Given the description of an element on the screen output the (x, y) to click on. 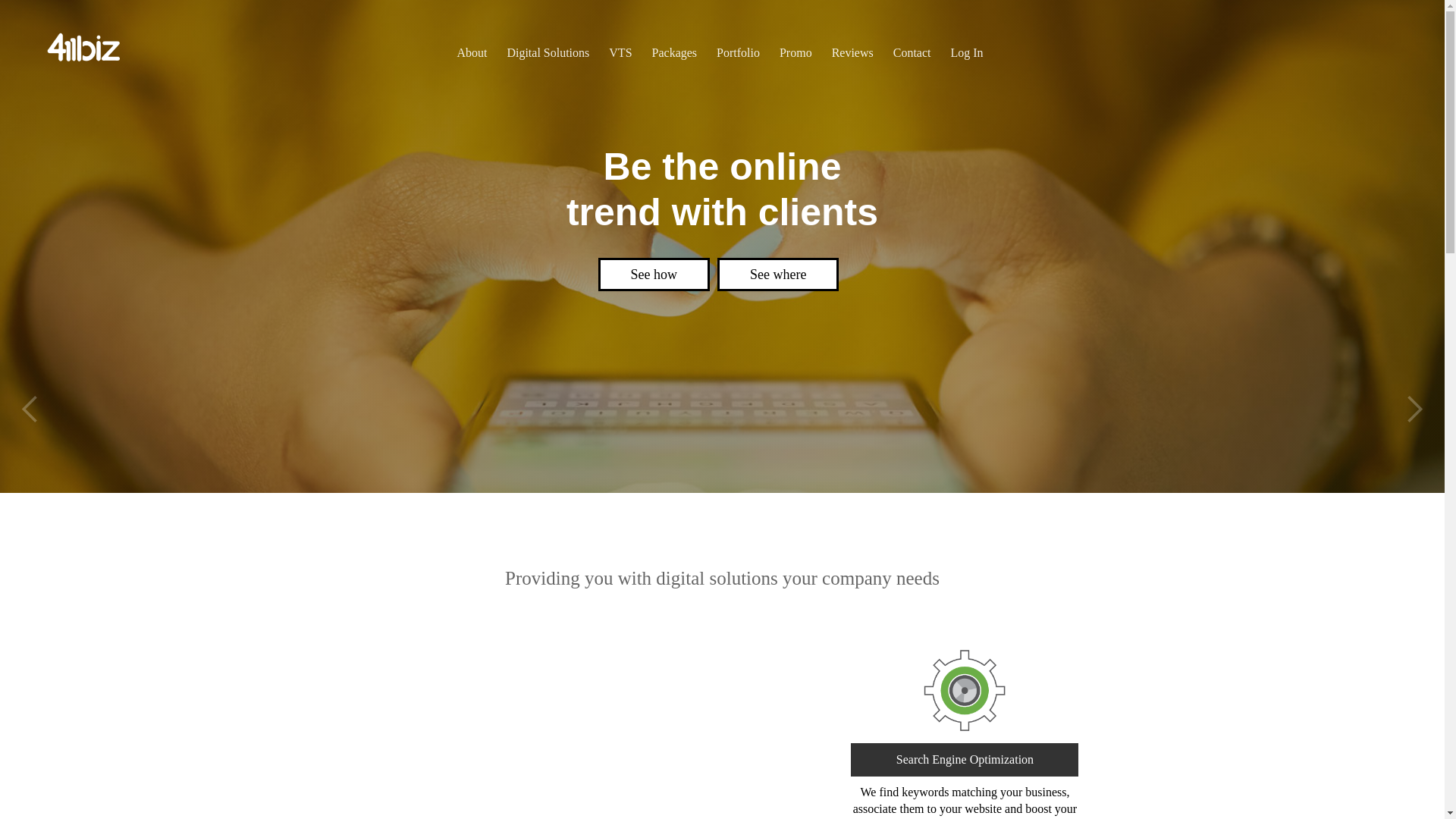
Portfolio Element type: text (738, 53)
Packages Element type: text (674, 53)
Digital Solutions Element type: text (547, 53)
VTS Element type: text (620, 53)
About Element type: text (471, 53)
Contact Element type: text (911, 53)
Log In Element type: text (967, 53)
See examples Element type: text (777, 274)
See how Element type: text (645, 274)
Promo Element type: text (795, 53)
Reviews Element type: text (852, 53)
